Given the description of an element on the screen output the (x, y) to click on. 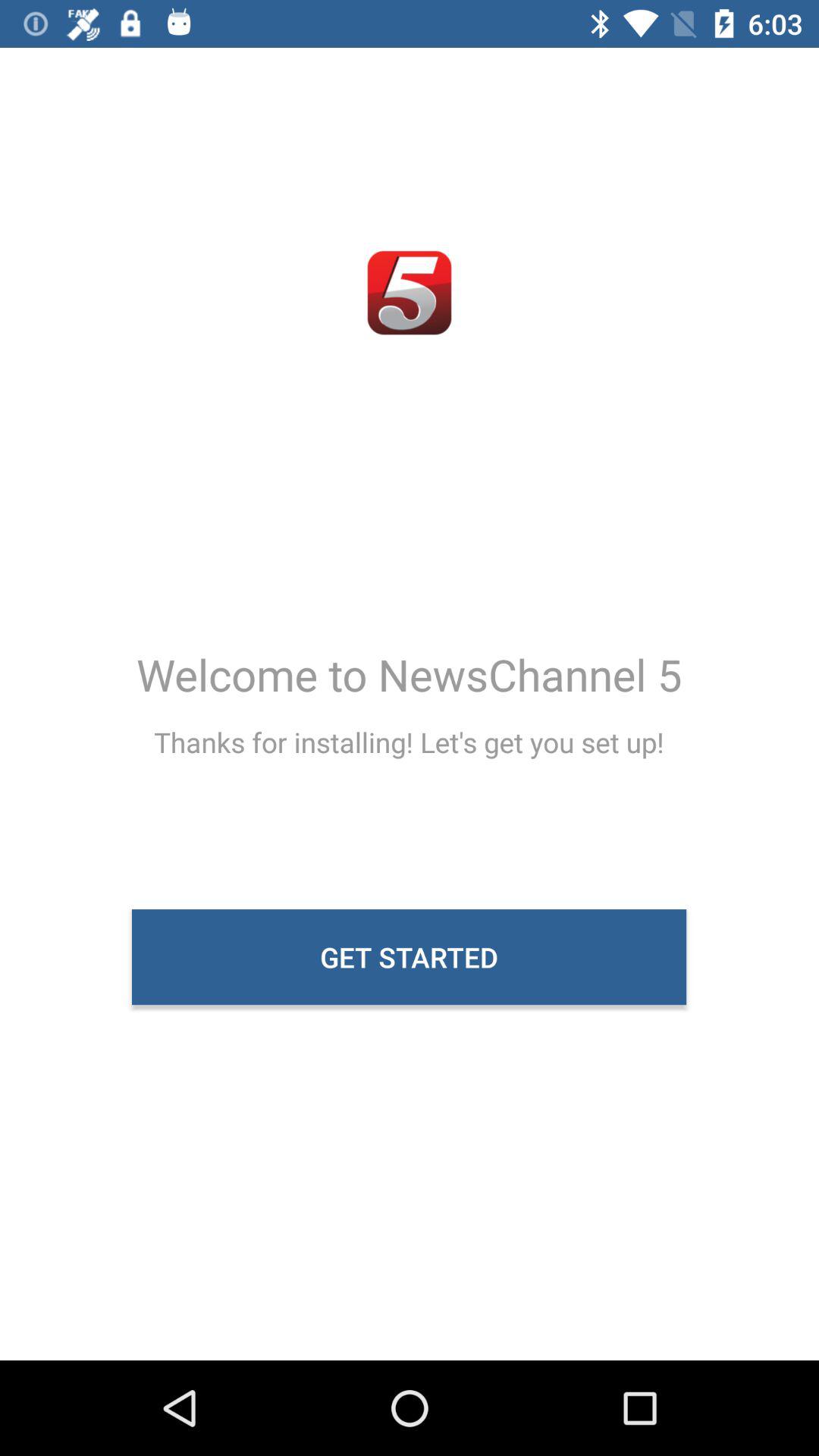
click get started item (408, 956)
